Given the description of an element on the screen output the (x, y) to click on. 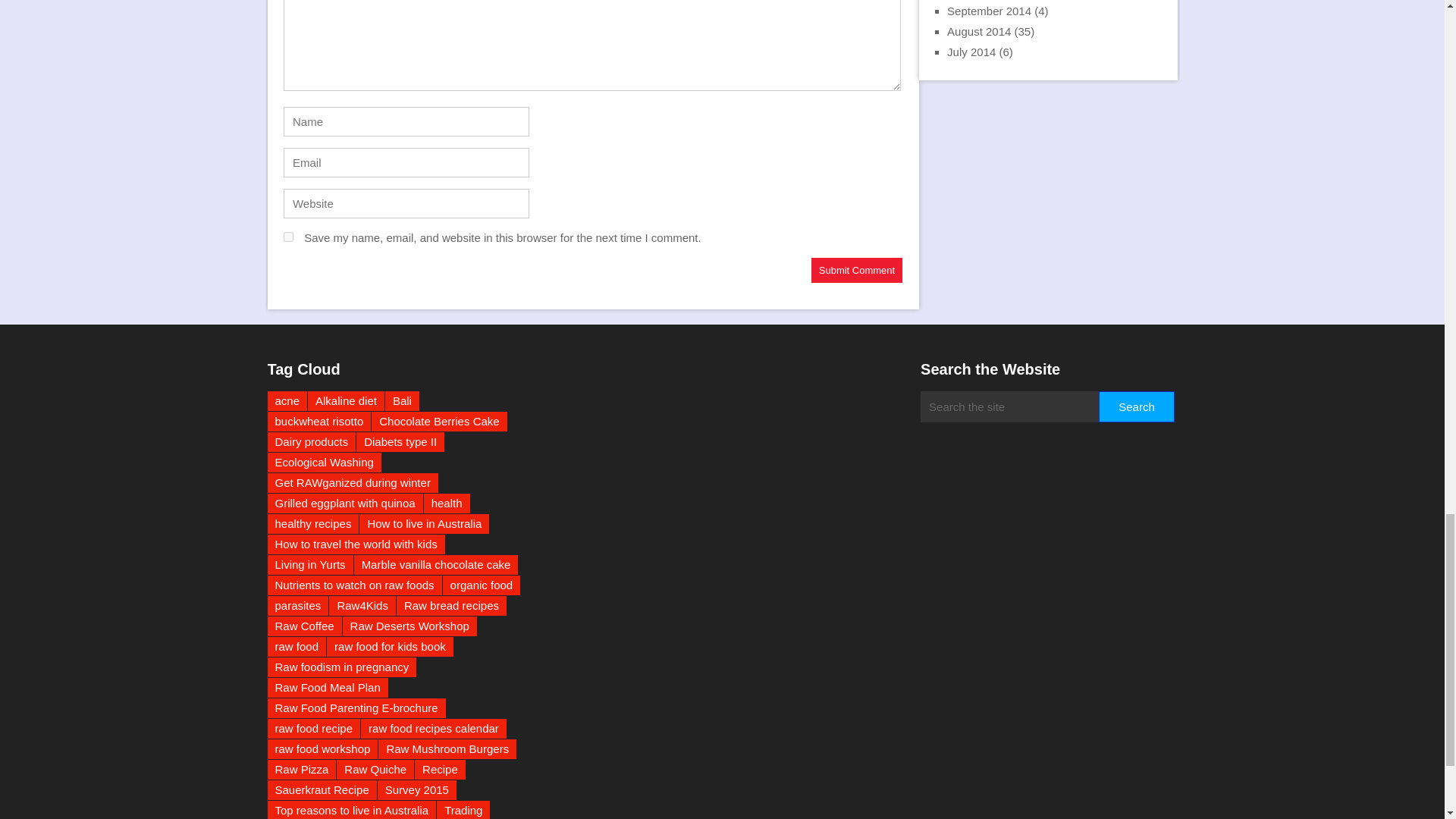
yes (288, 236)
Submit Comment (856, 269)
Submit Comment (856, 269)
Search the site (1009, 406)
Search (1136, 406)
